Given the description of an element on the screen output the (x, y) to click on. 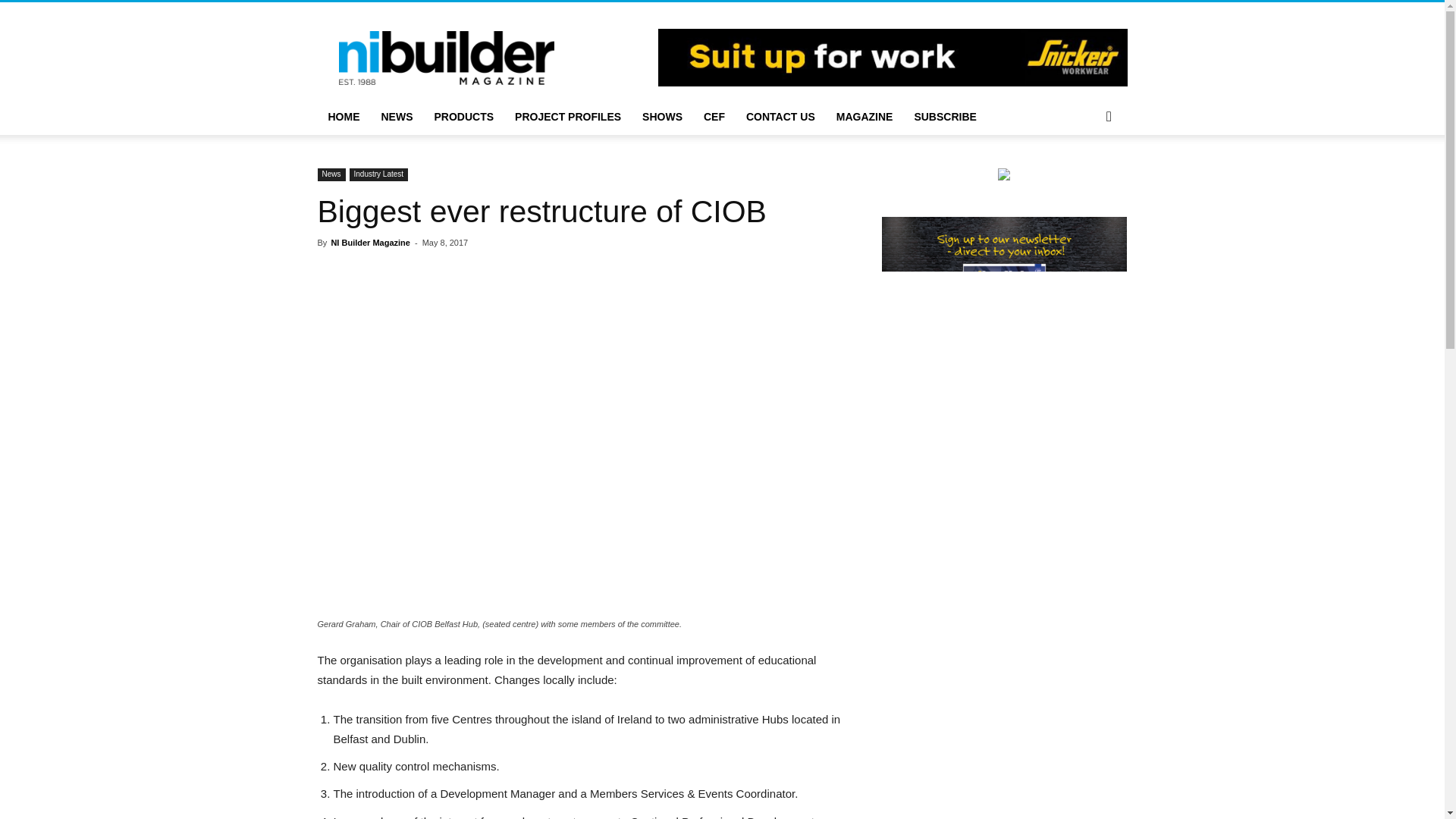
PROJECT PROFILES (567, 116)
Northern Builder Magazine (445, 57)
PRODUCTS (463, 116)
SHOWS (662, 116)
CONTACT US (780, 116)
HOME (343, 116)
CEF (714, 116)
NEWS (396, 116)
